Given the description of an element on the screen output the (x, y) to click on. 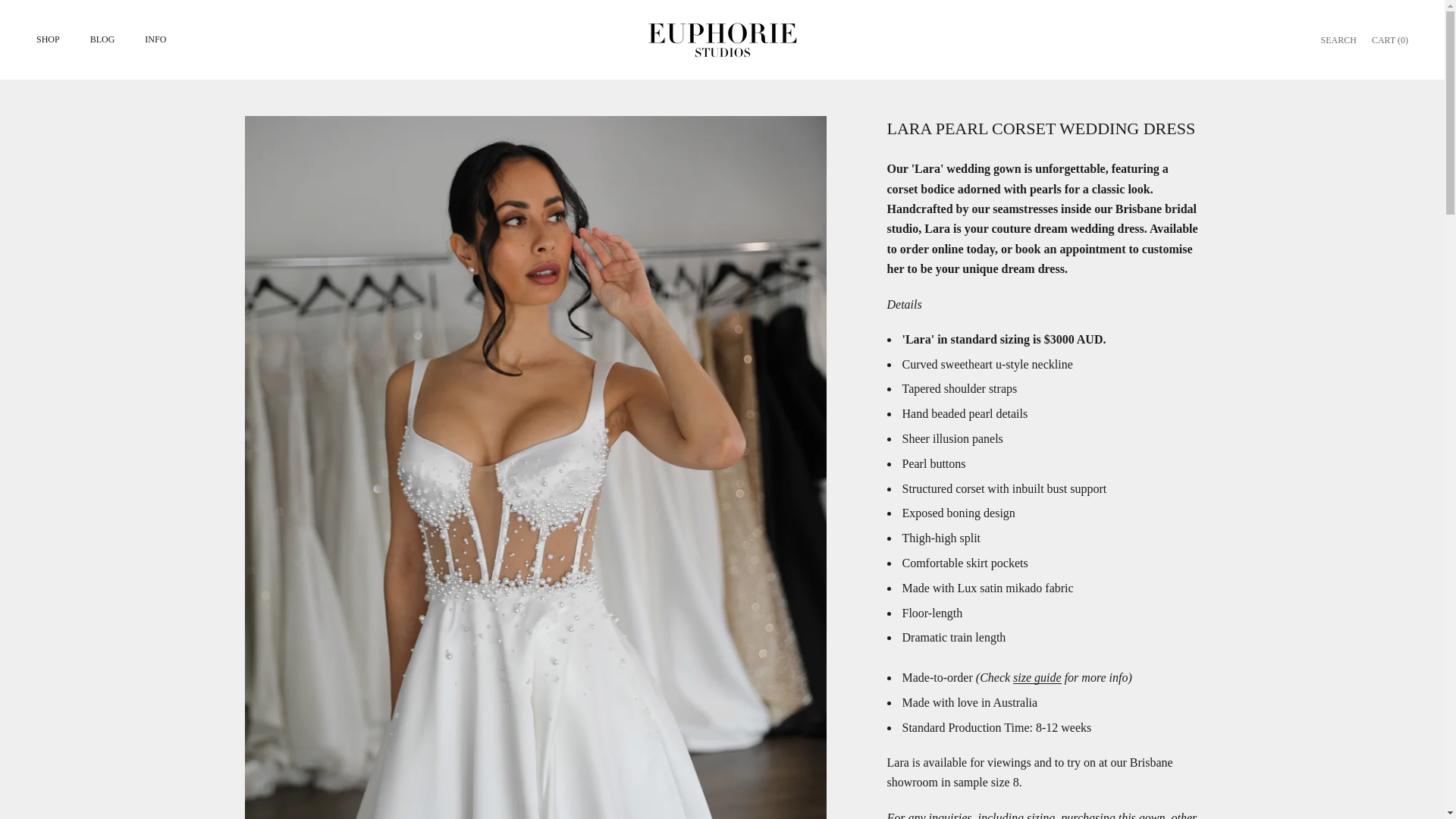
BLOG (1338, 39)
Size guide measurements bridal wedding formal dress styles (102, 38)
size guide (1037, 676)
Euphorie Studios (1037, 676)
